Given the description of an element on the screen output the (x, y) to click on. 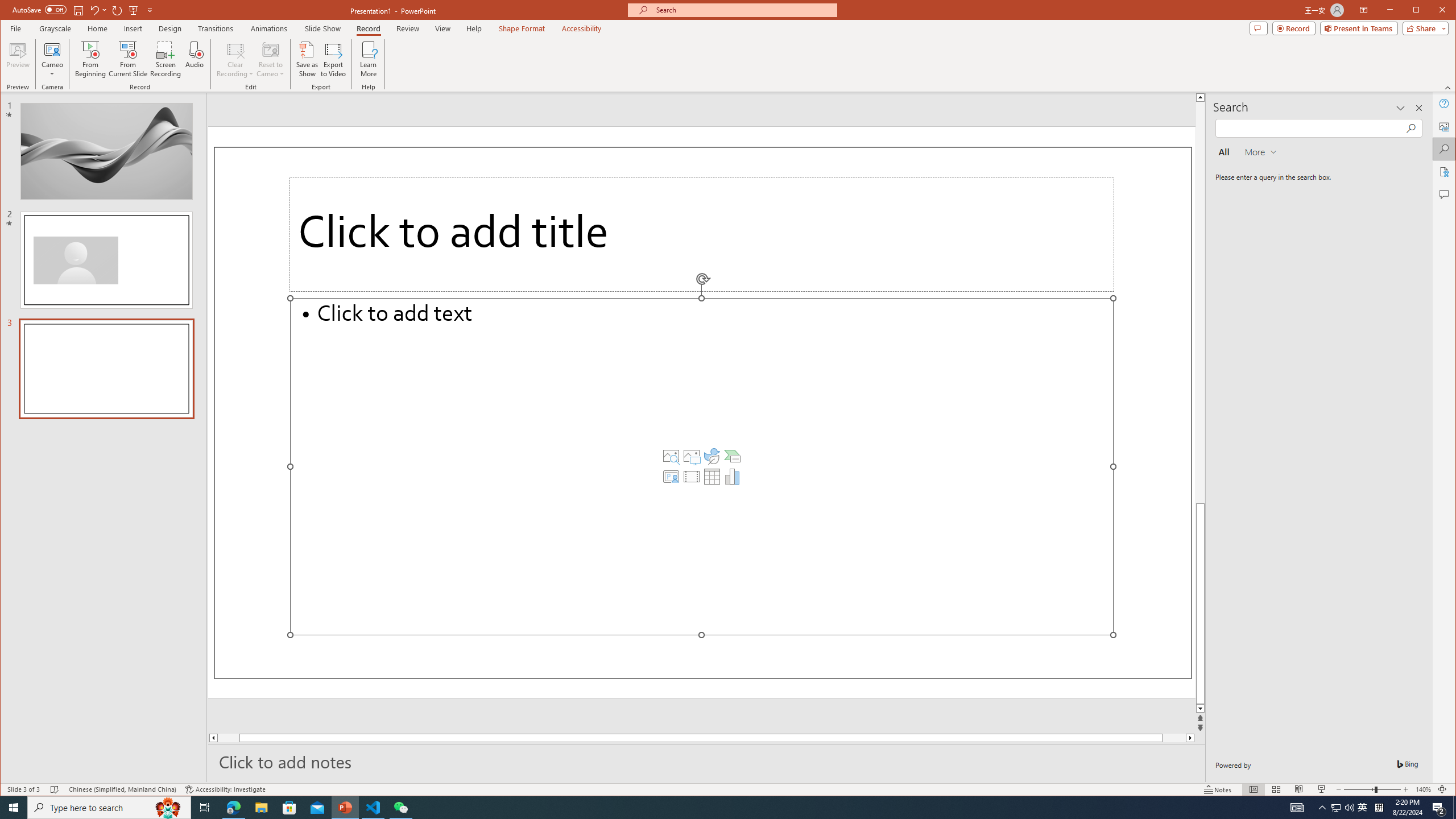
Grayscale (55, 28)
Shape Format (521, 28)
Insert a SmartArt Graphic (732, 456)
Accessibility (1444, 171)
User Promoted Notification Area (1342, 807)
Spell Check No Errors (55, 789)
Clear Recording (234, 59)
Visual Studio Code - 1 running window (373, 807)
Type here to search (108, 807)
Task Pane Options (1400, 107)
From Beginning... (90, 59)
Action Center, 2 new notifications (1439, 807)
Alt Text (1444, 125)
